Given the description of an element on the screen output the (x, y) to click on. 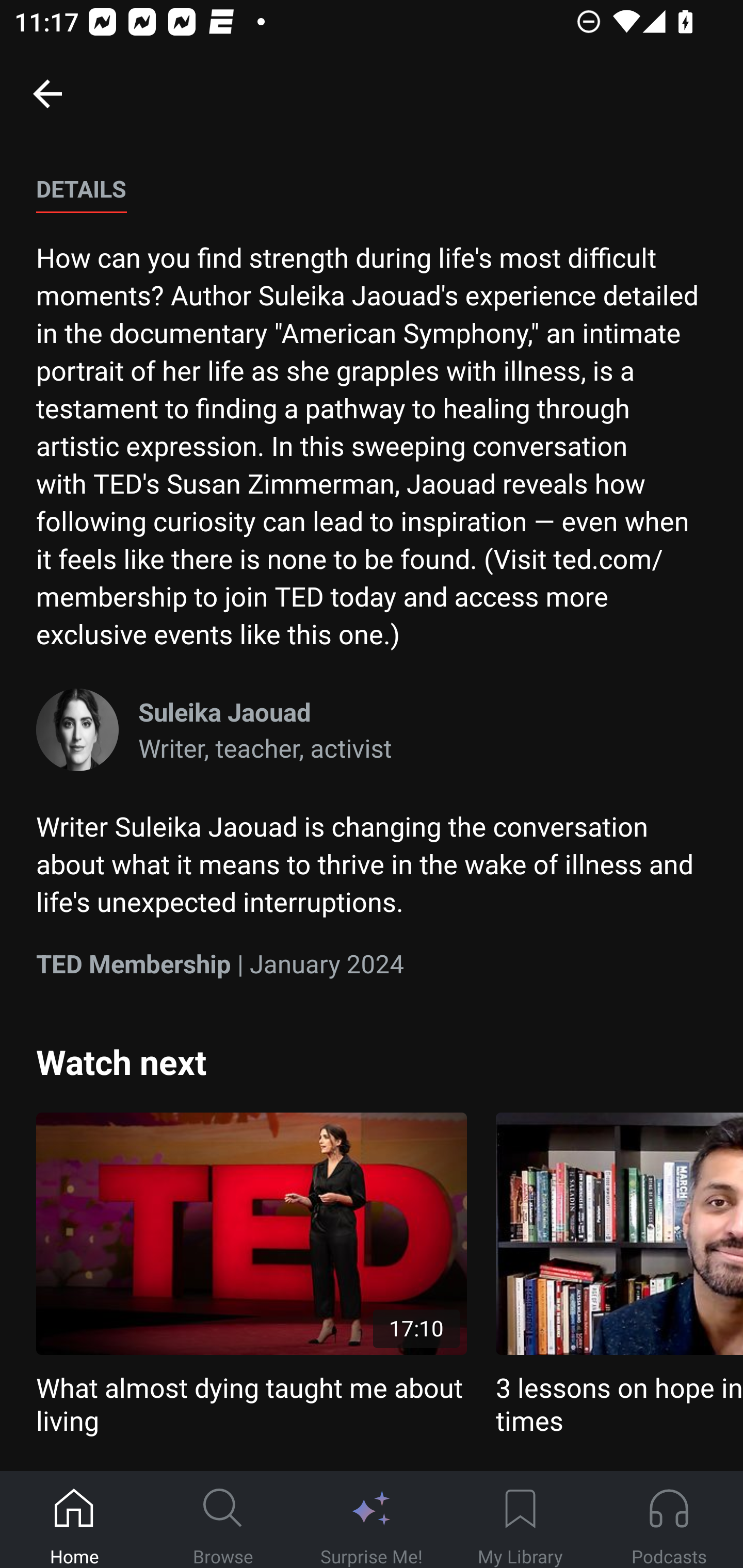
Home, back (47, 92)
DETAILS (80, 189)
17:10 What almost dying taught me about living (251, 1275)
Home (74, 1520)
Browse (222, 1520)
Surprise Me! (371, 1520)
My Library (519, 1520)
Podcasts (668, 1520)
